Given the description of an element on the screen output the (x, y) to click on. 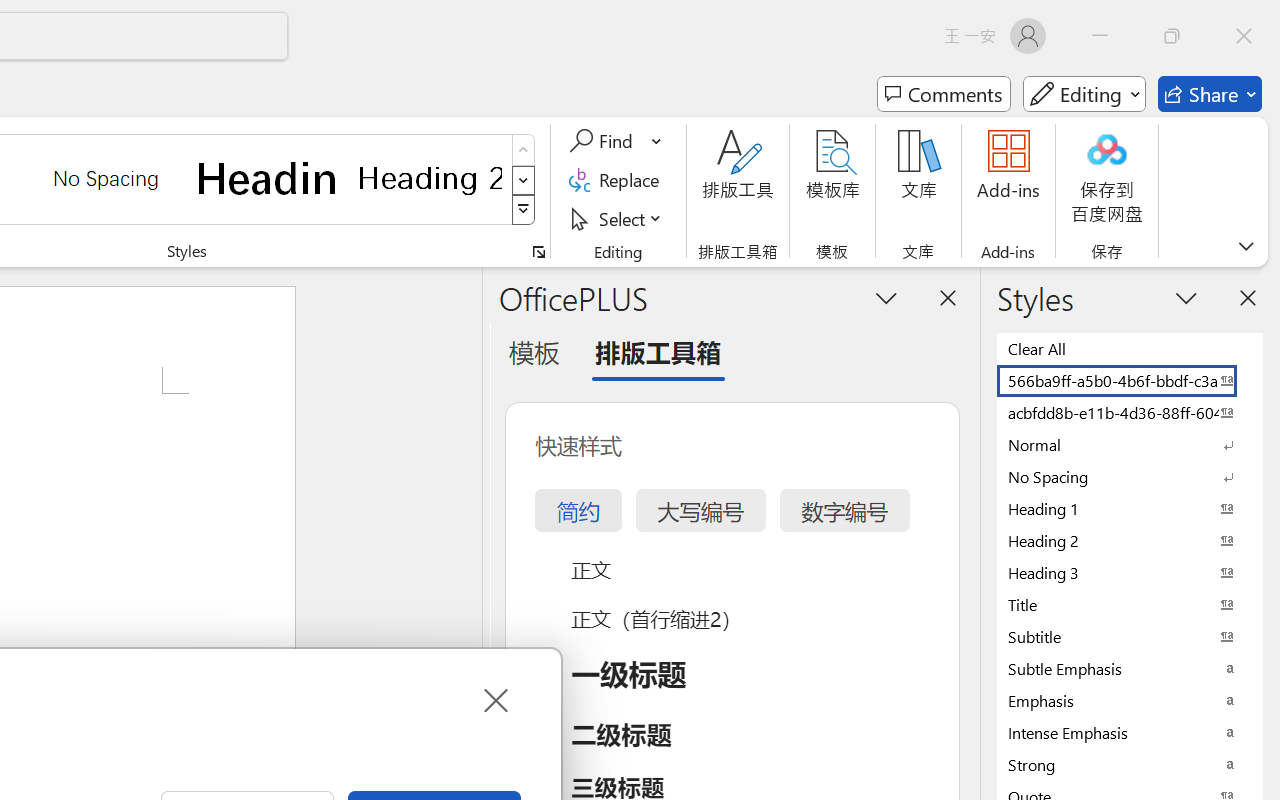
Heading 1 (267, 178)
Styles... (538, 252)
Close (493, 699)
Mode (1083, 94)
Intense Emphasis (1130, 732)
Heading 2 (429, 178)
Row Down (523, 180)
acbfdd8b-e11b-4d36-88ff-6049b138f862 (1130, 412)
More Options (657, 141)
Ribbon Display Options (1246, 245)
Share (1210, 94)
No Spacing (1130, 476)
